Given the description of an element on the screen output the (x, y) to click on. 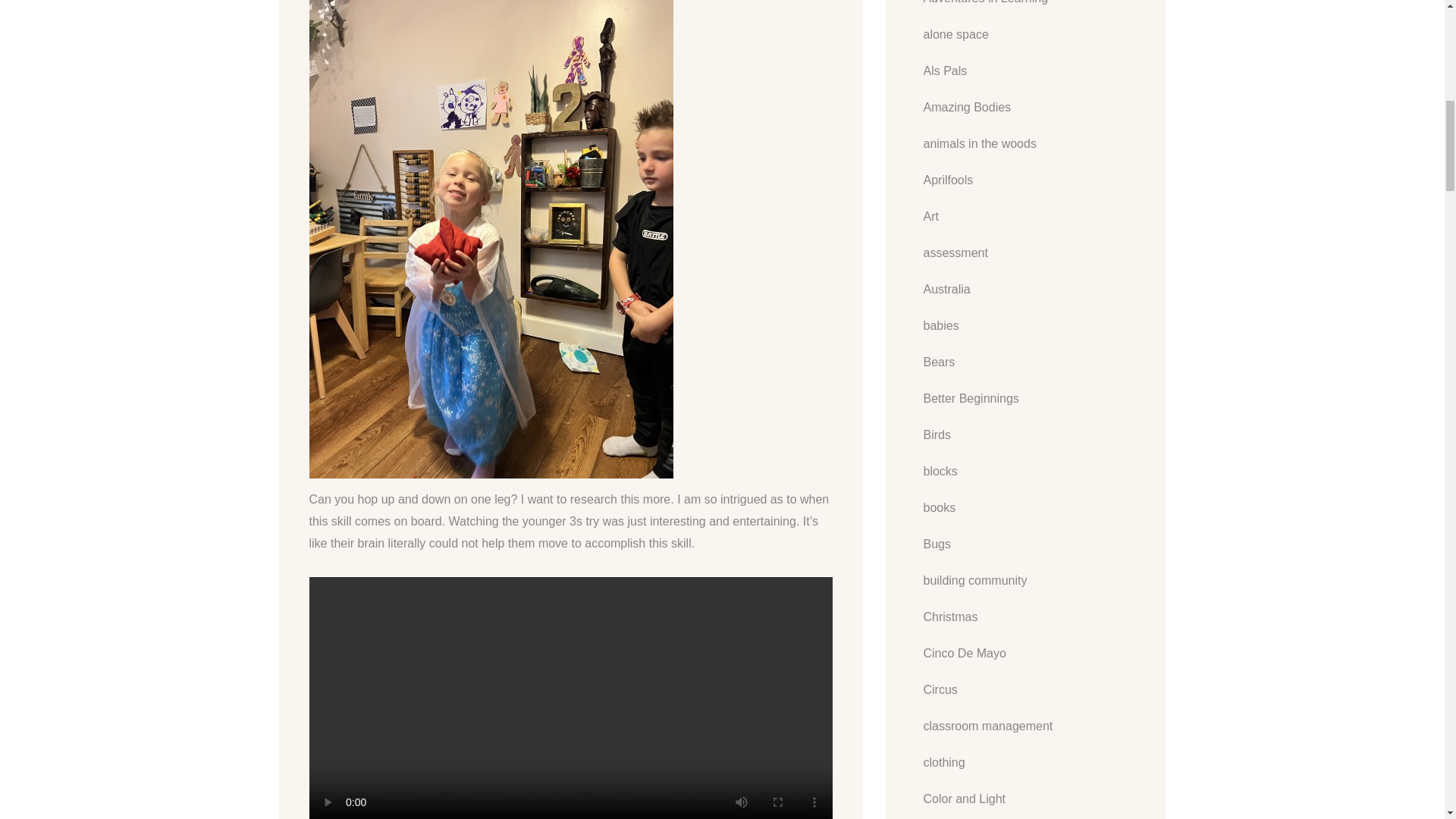
alone space (955, 34)
Better Beginnings (971, 398)
animals in the woods (979, 144)
Birds (936, 434)
Als Pals (945, 71)
assessment (955, 253)
Adventures in Learning (985, 3)
blocks (940, 471)
Aprilfools (948, 180)
Bears (939, 361)
Australia (947, 289)
babies (941, 325)
Art (931, 217)
Amazing Bodies (967, 107)
